Given the description of an element on the screen output the (x, y) to click on. 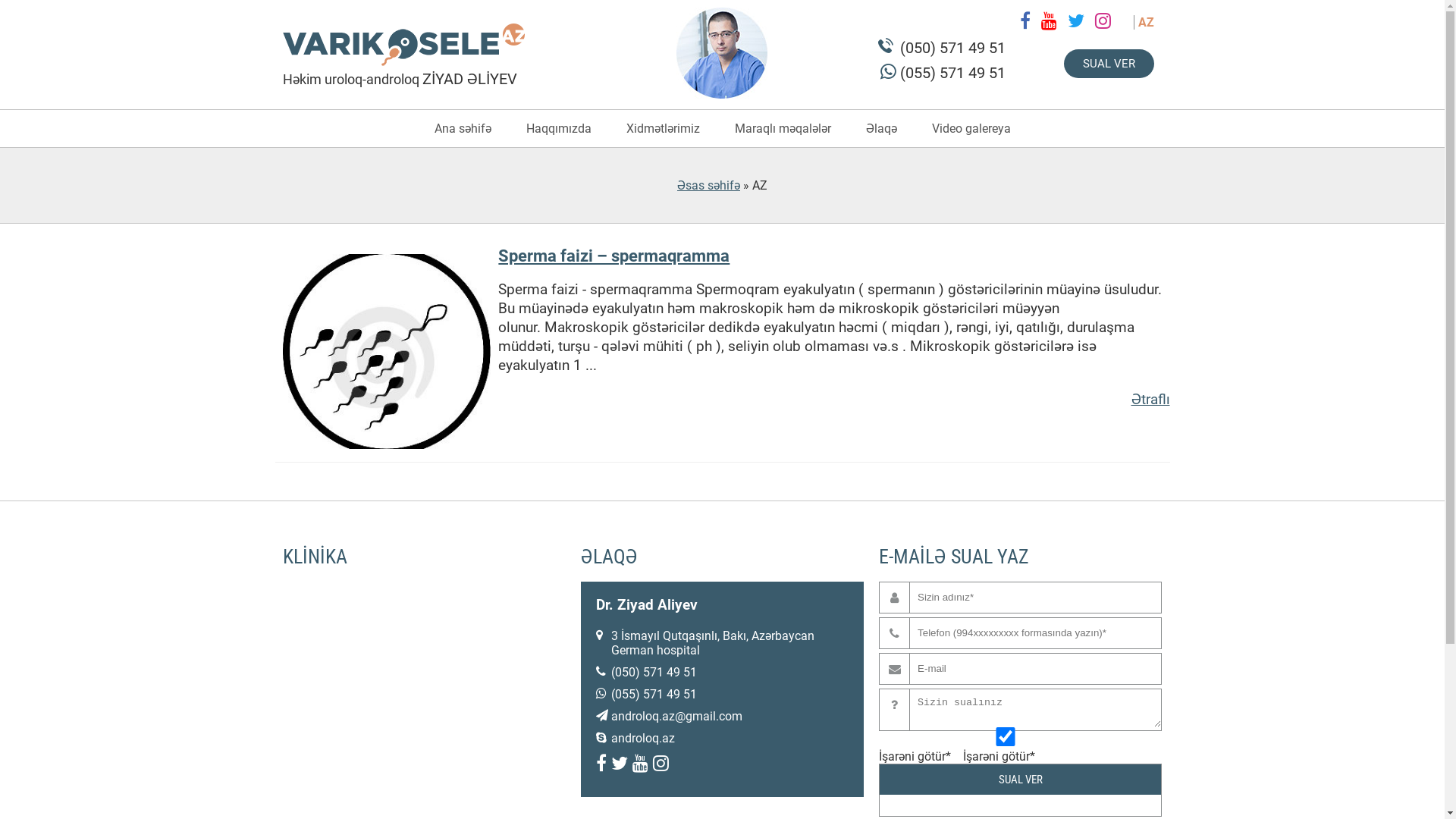
Sual ver Element type: text (1020, 779)
Video galereya Element type: text (970, 128)
androloq.az Element type: text (642, 738)
SUAL VER Element type: text (1108, 63)
AZ Element type: text (1146, 22)
